Given the description of an element on the screen output the (x, y) to click on. 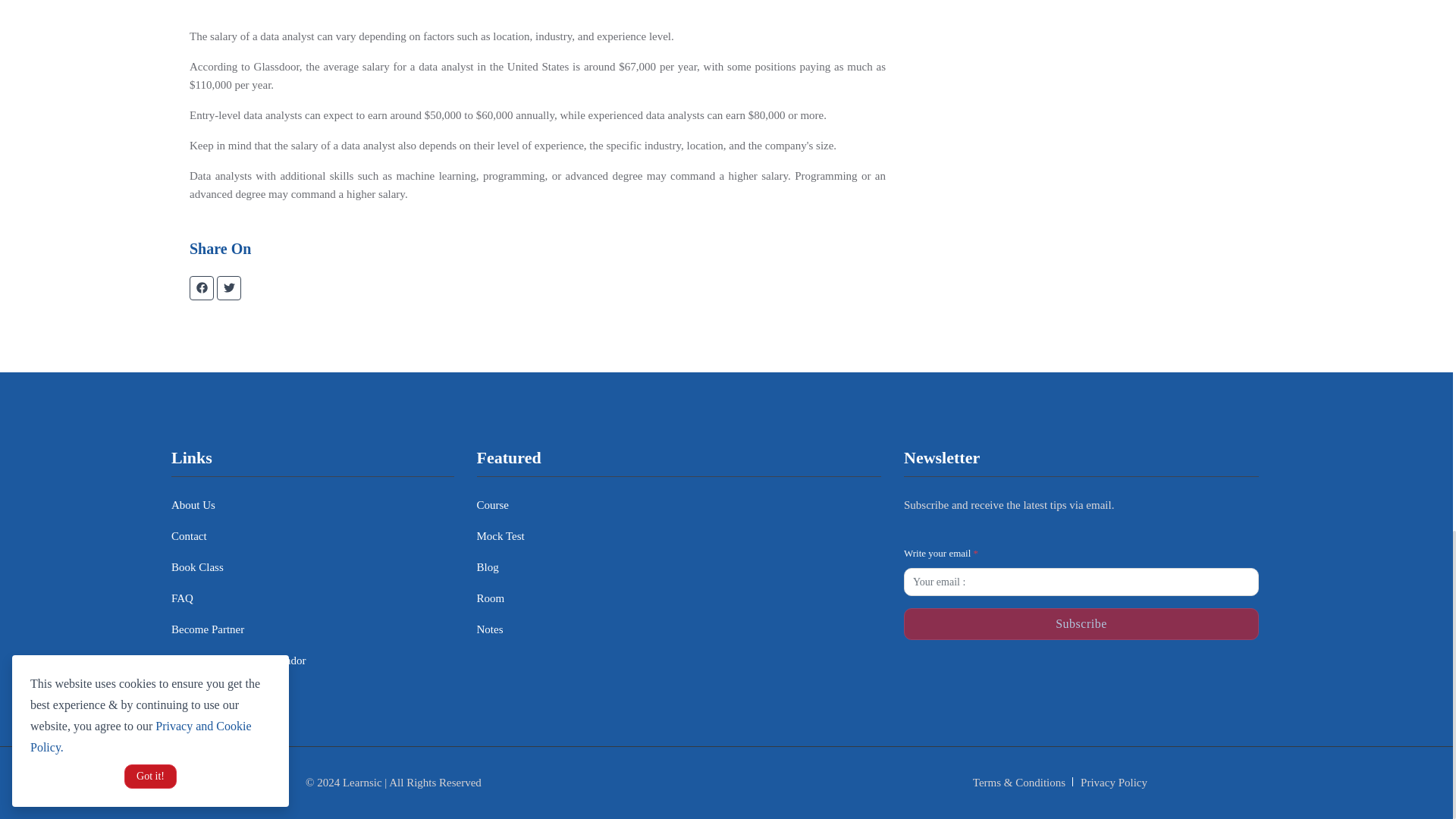
About Us (193, 505)
Become Partner (207, 629)
Become College Ambassador (238, 660)
FAQ (182, 598)
TikTok (1124, 676)
Course (492, 505)
Privacy Policy (1113, 782)
Mock Test (500, 536)
Subscribe (1081, 623)
YouTube (1213, 676)
